Given the description of an element on the screen output the (x, y) to click on. 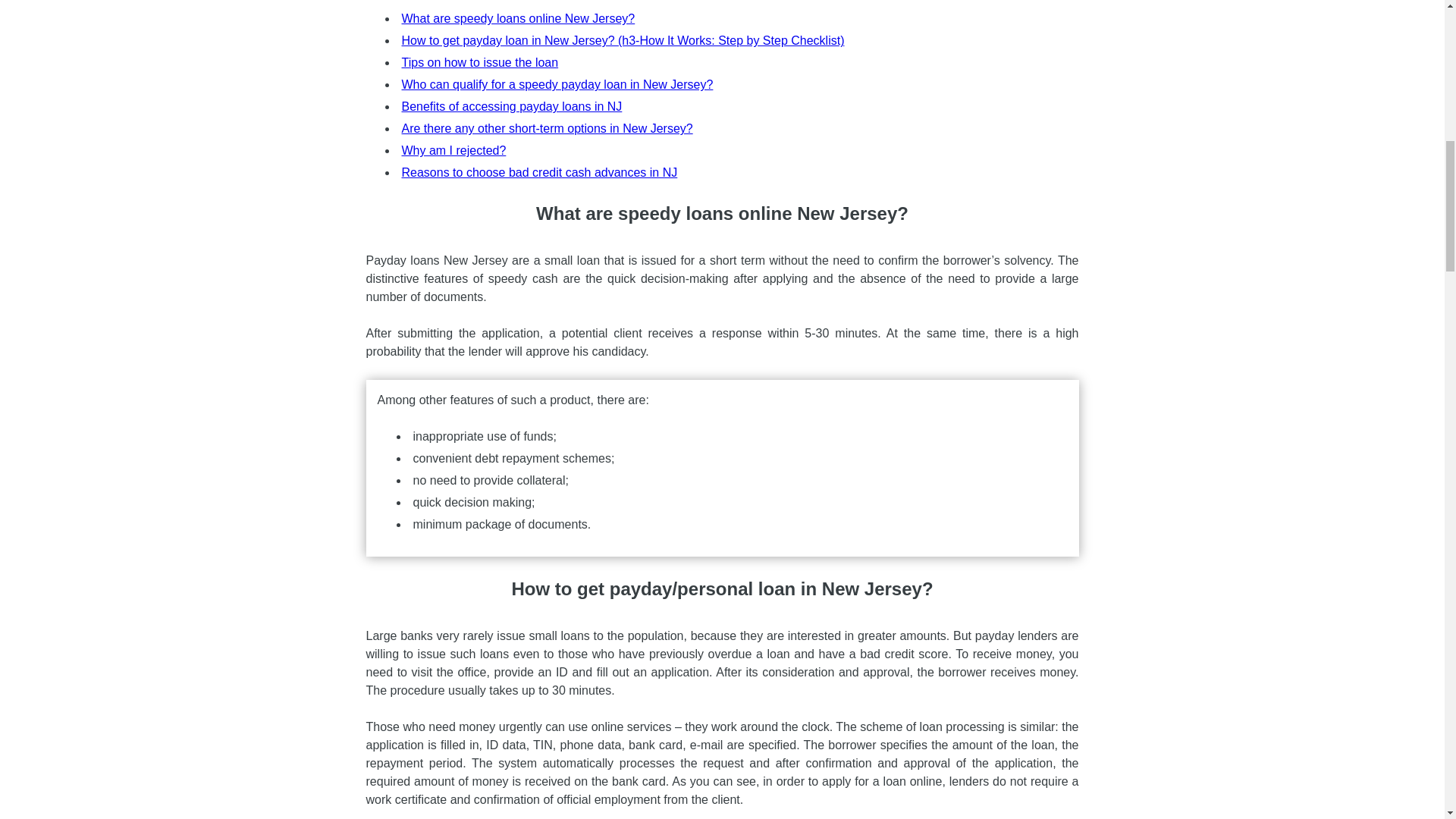
Who can qualify for a speedy payday loan in New Jersey? (557, 83)
Reasons to choose bad credit cash advances in NJ (539, 172)
Tips on how to issue the loan (480, 62)
Why am I rejected? (453, 150)
Benefits of accessing payday loans in NJ (512, 106)
What are speedy loans online New Jersey? (517, 18)
Are there any other short-term options in New Jersey? (547, 128)
